Given the description of an element on the screen output the (x, y) to click on. 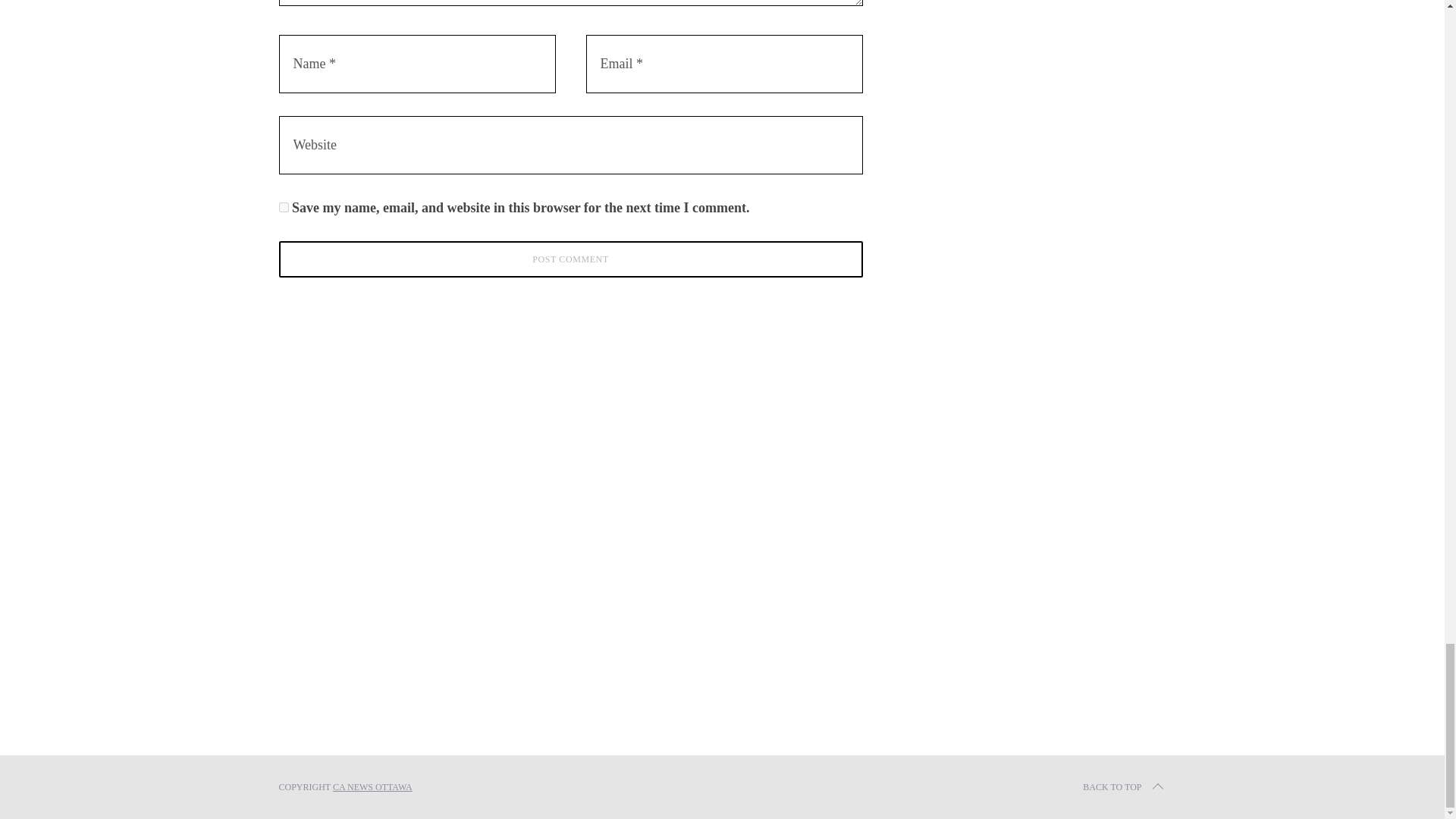
Post Comment (571, 258)
Post Comment (571, 258)
yes (283, 207)
